Given the description of an element on the screen output the (x, y) to click on. 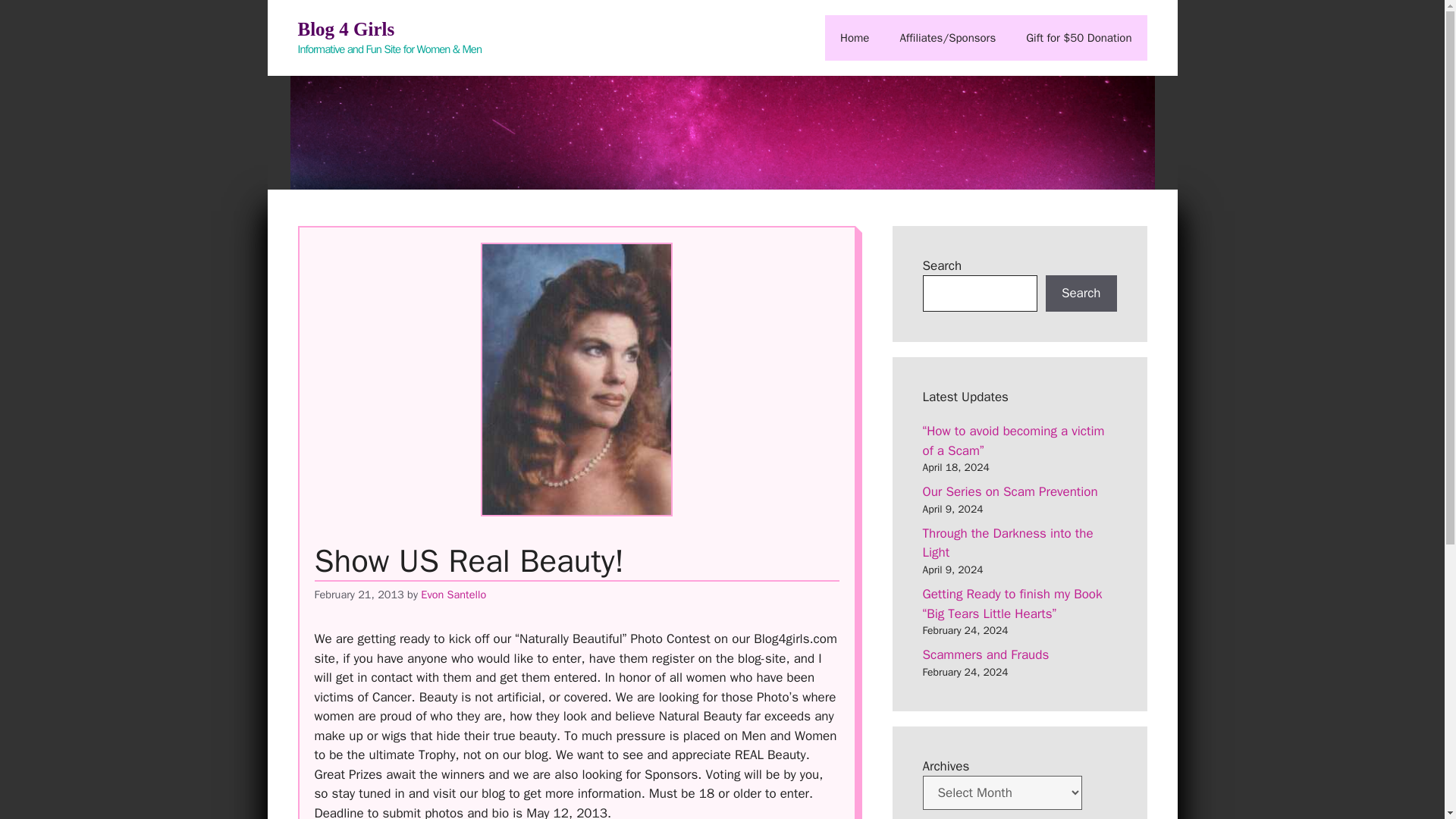
Blog 4 Girls (345, 28)
Through the Darkness into the Light (1007, 543)
Home (854, 37)
Evon Santello (453, 594)
Scammers and Frauds (984, 654)
Search (1080, 293)
Our Series on Scam Prevention (1009, 491)
View all posts by Evon Santello (453, 594)
